Given the description of an element on the screen output the (x, y) to click on. 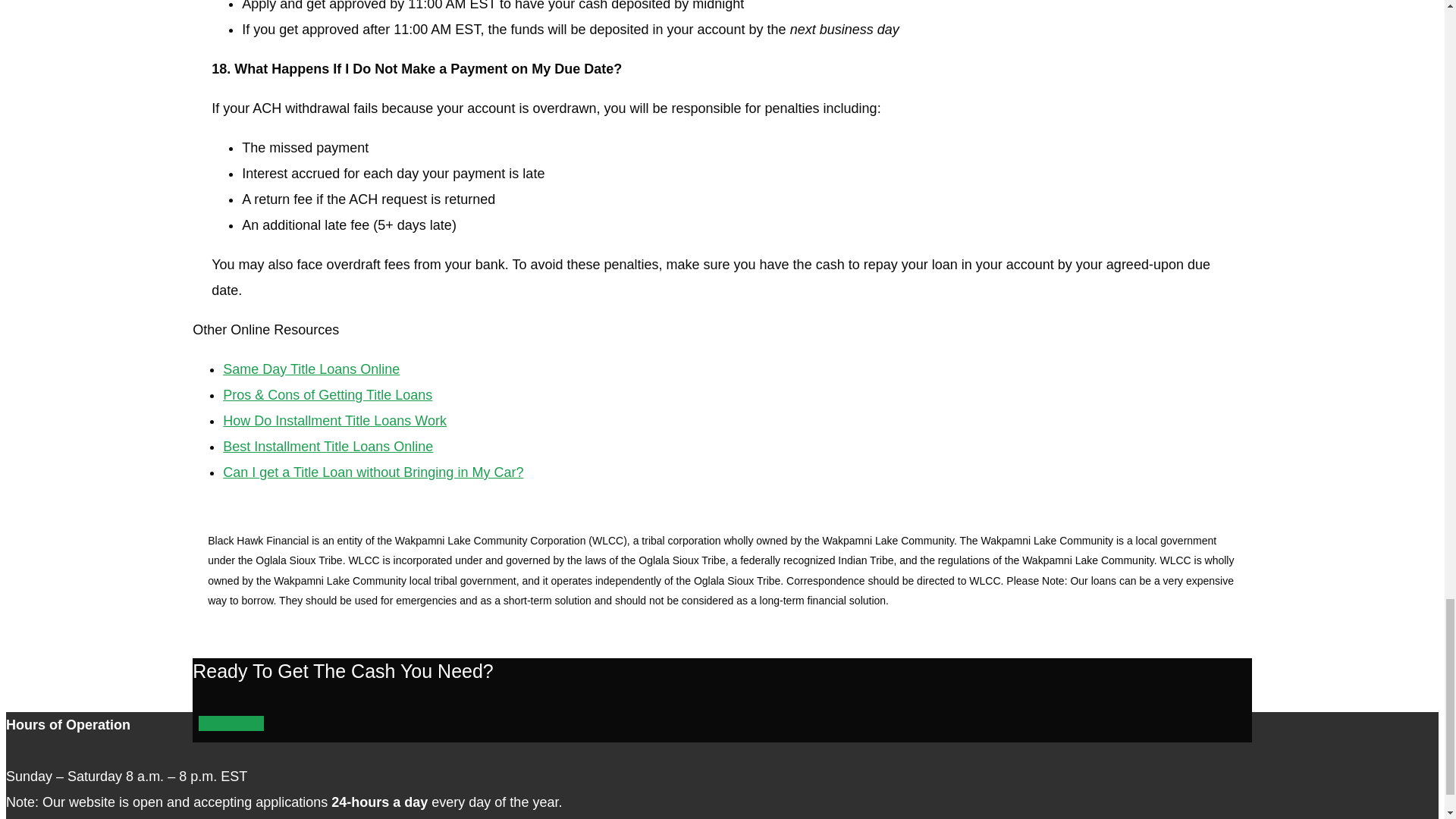
Apply Now (230, 723)
Can I get a Title Loan without Bringing in My Car? (372, 472)
How Do Installment Title Loans Work (334, 420)
Same Day Title Loans Online (310, 368)
Best Installment Title Loans Online (327, 446)
